Given the description of an element on the screen output the (x, y) to click on. 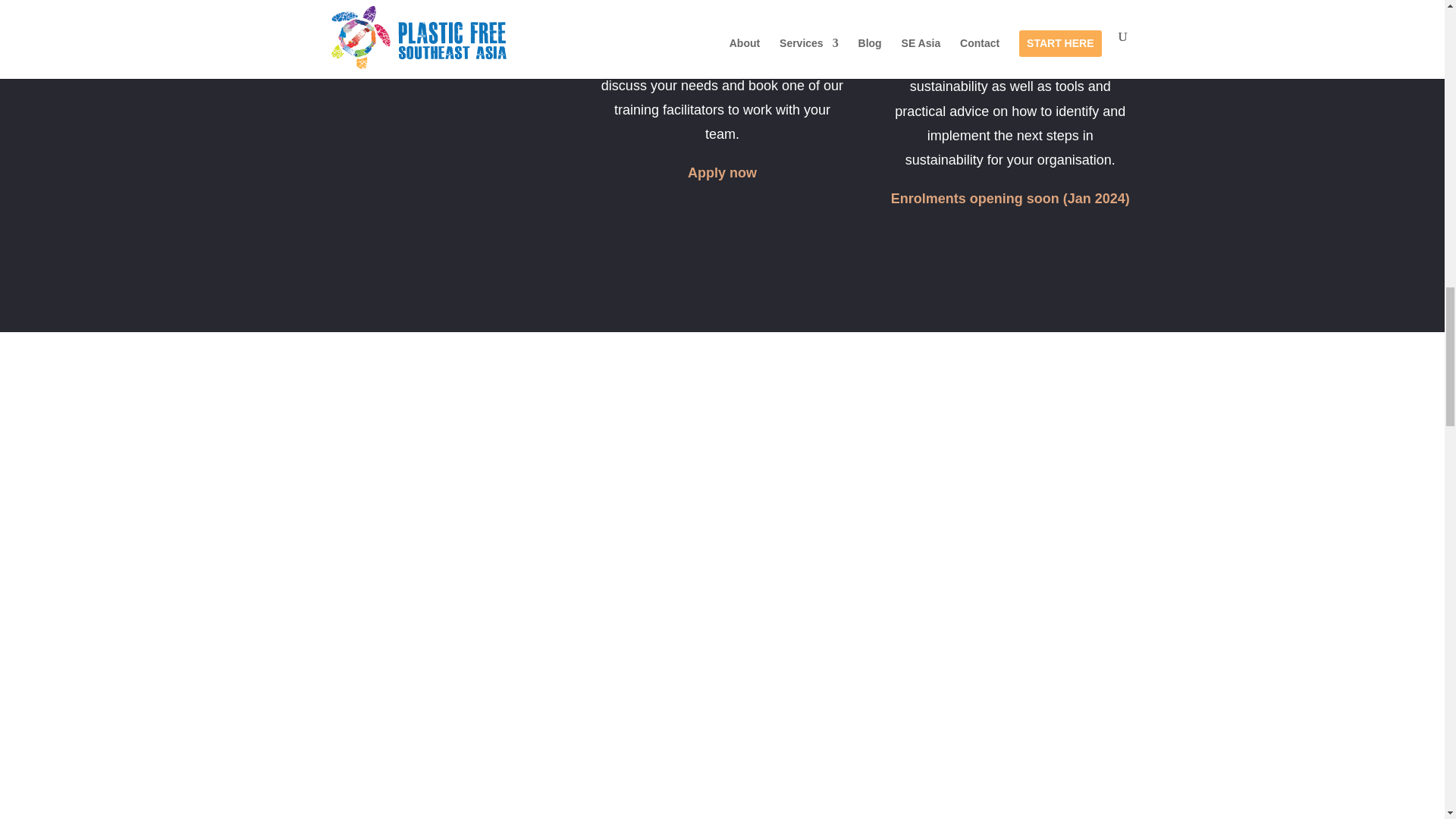
Apply now (722, 172)
Book now (434, 49)
